Given the description of an element on the screen output the (x, y) to click on. 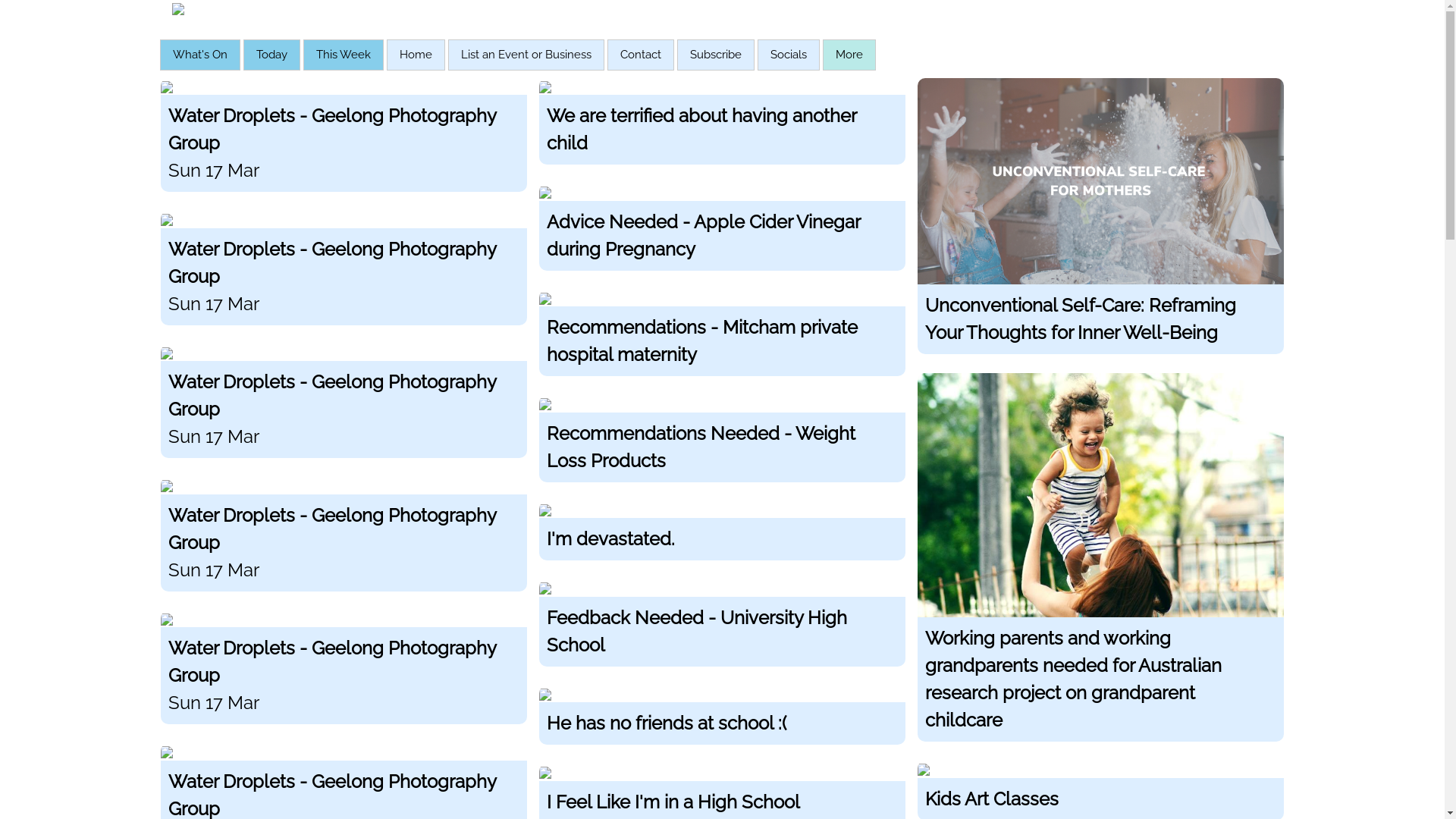
List an Event or Business Element type: text (526, 54)
Feedback Needed - University High School Element type: text (722, 628)
Water Droplets - Geelong Photography Group
Sun 17 Mar Element type: text (343, 273)
More Element type: text (848, 54)
I'm devastated. Element type: text (722, 536)
Socials Element type: text (787, 54)
Advice Needed - Apple Cider Vinegar during Pregnancy Element type: text (722, 232)
Water Droplets - Geelong Photography Group
Sun 17 Mar Element type: text (343, 140)
He has no friends at school :( Element type: text (722, 720)
Water Droplets - Geelong Photography Group
Sun 17 Mar Element type: text (343, 407)
Subscribe Element type: text (715, 54)
Water Droplets - Geelong Photography Group
Sun 17 Mar Element type: text (343, 539)
Water Droplets - Geelong Photography Group
Sun 17 Mar Element type: text (343, 673)
Today Element type: text (271, 54)
Contact Element type: text (640, 54)
What's On Element type: text (199, 54)
We are terrified about having another child Element type: text (722, 127)
Recommendations Needed - Weight Loss Products Element type: text (722, 444)
Recommendations - Mitcham private hospital maternity Element type: text (722, 338)
This Week Element type: text (342, 54)
Home Element type: text (414, 54)
